Given the description of an element on the screen output the (x, y) to click on. 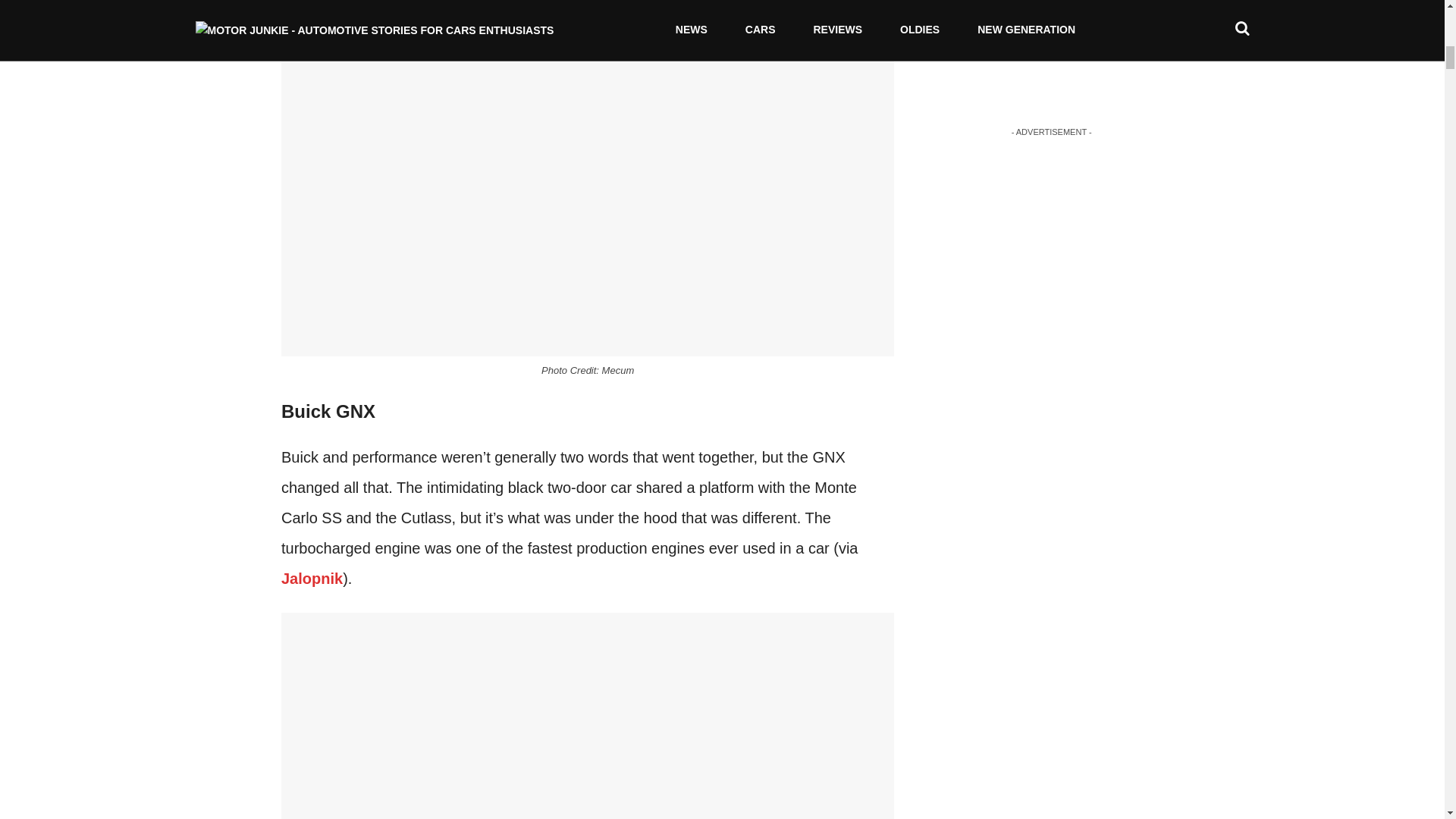
Jalopnik (311, 578)
